Given the description of an element on the screen output the (x, y) to click on. 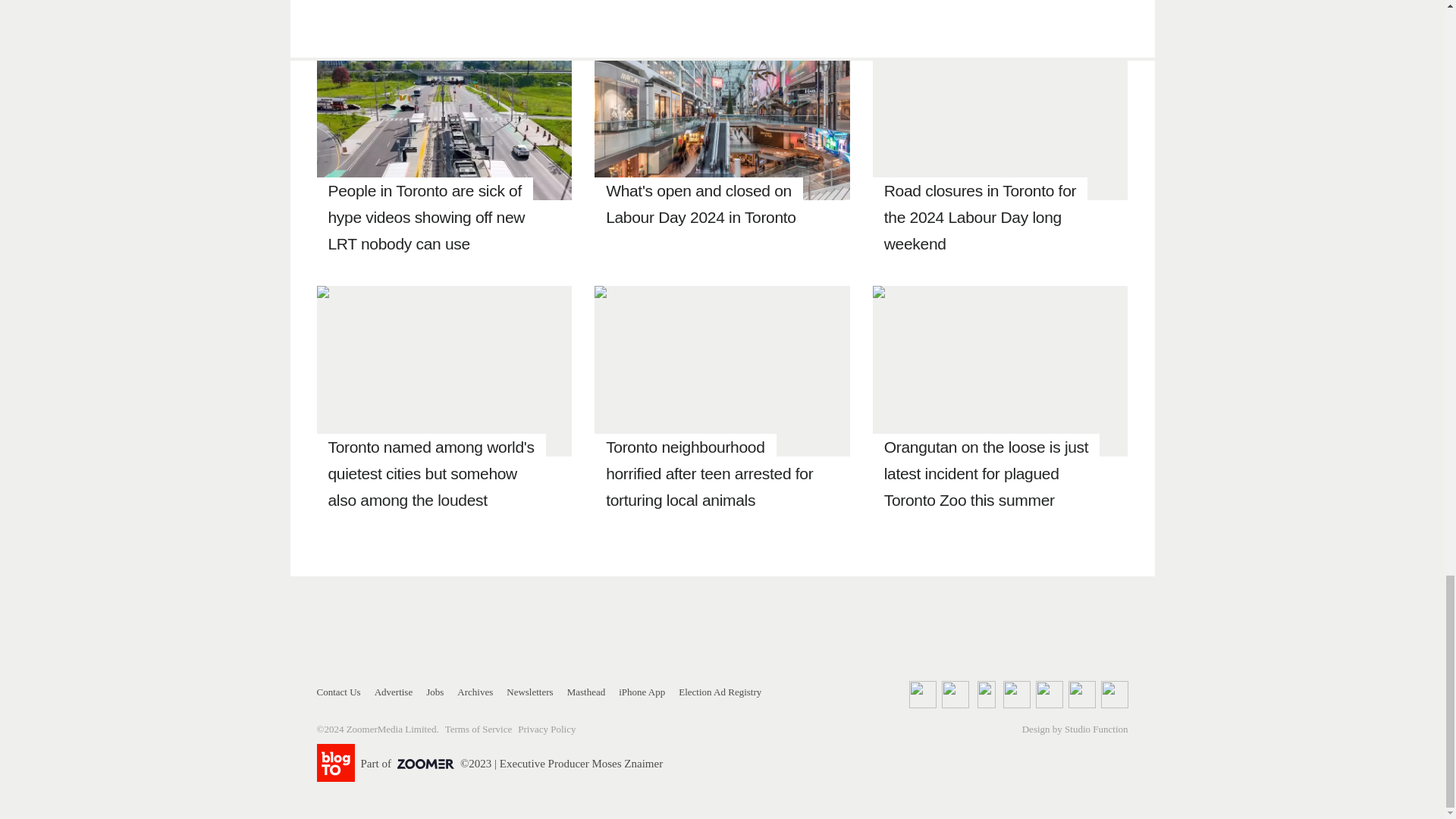
Newsletters (529, 691)
Masthead (586, 691)
iPhone App (641, 691)
Advertise (393, 691)
Contact Us (339, 691)
Election Ad Registry (719, 691)
Archives (475, 691)
Jobs (435, 691)
